Given the description of an element on the screen output the (x, y) to click on. 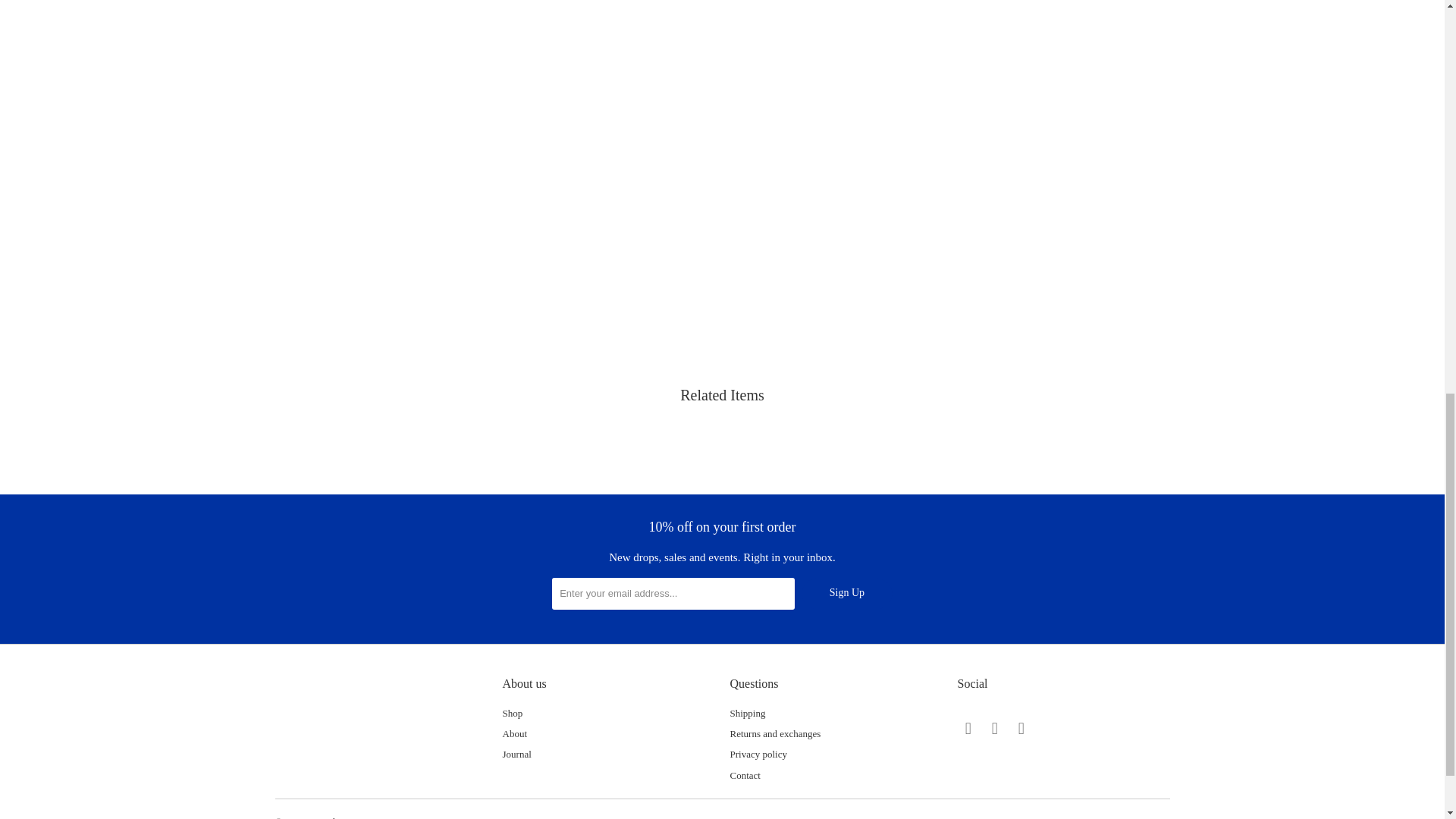
Unspoken on Instagram (1021, 728)
Sign Up (847, 593)
Unspoken on Facebook (995, 728)
Unspoken on Twitter (967, 728)
